Given the description of an element on the screen output the (x, y) to click on. 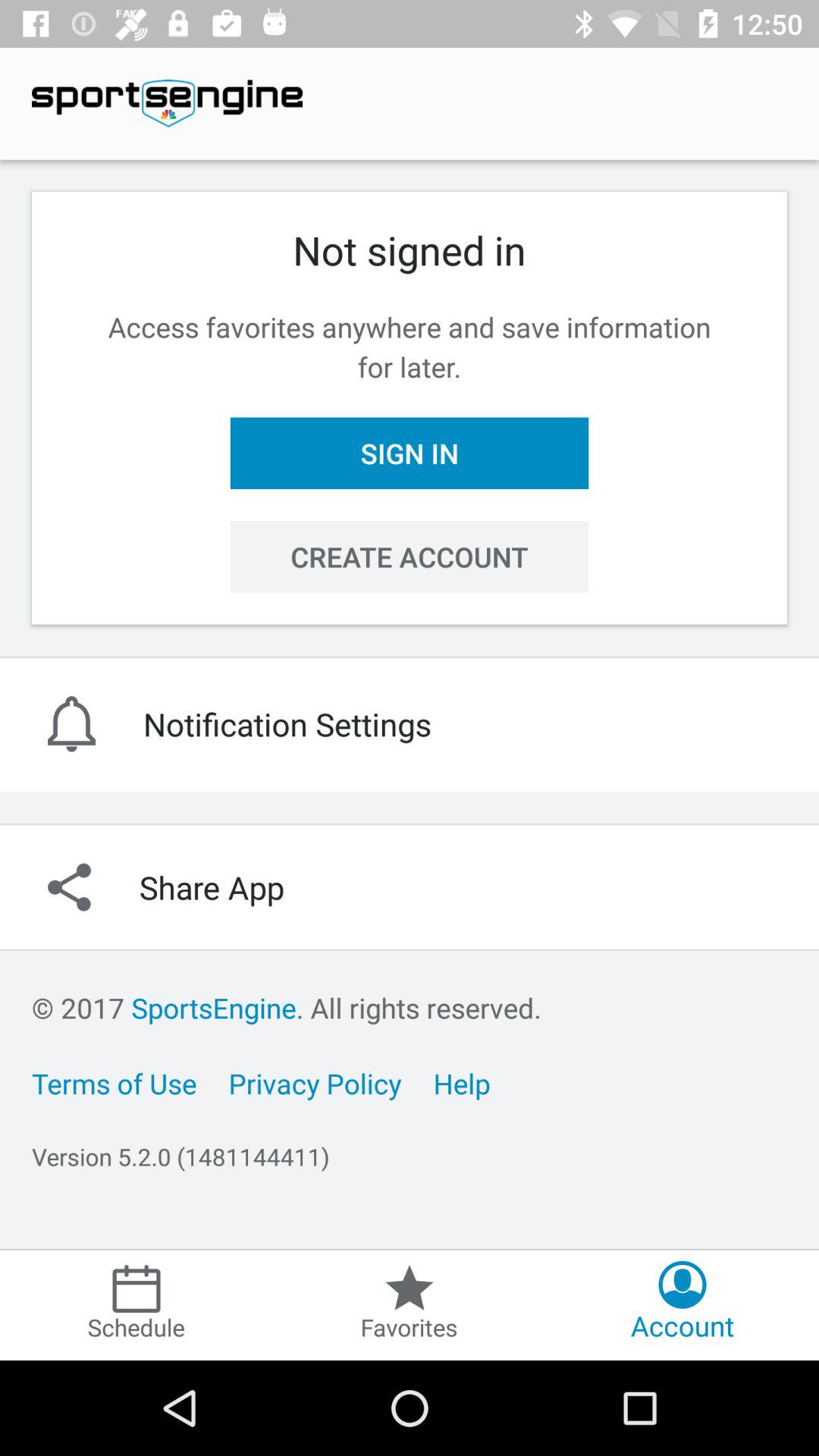
choose item above the notification settings icon (409, 556)
